Given the description of an element on the screen output the (x, y) to click on. 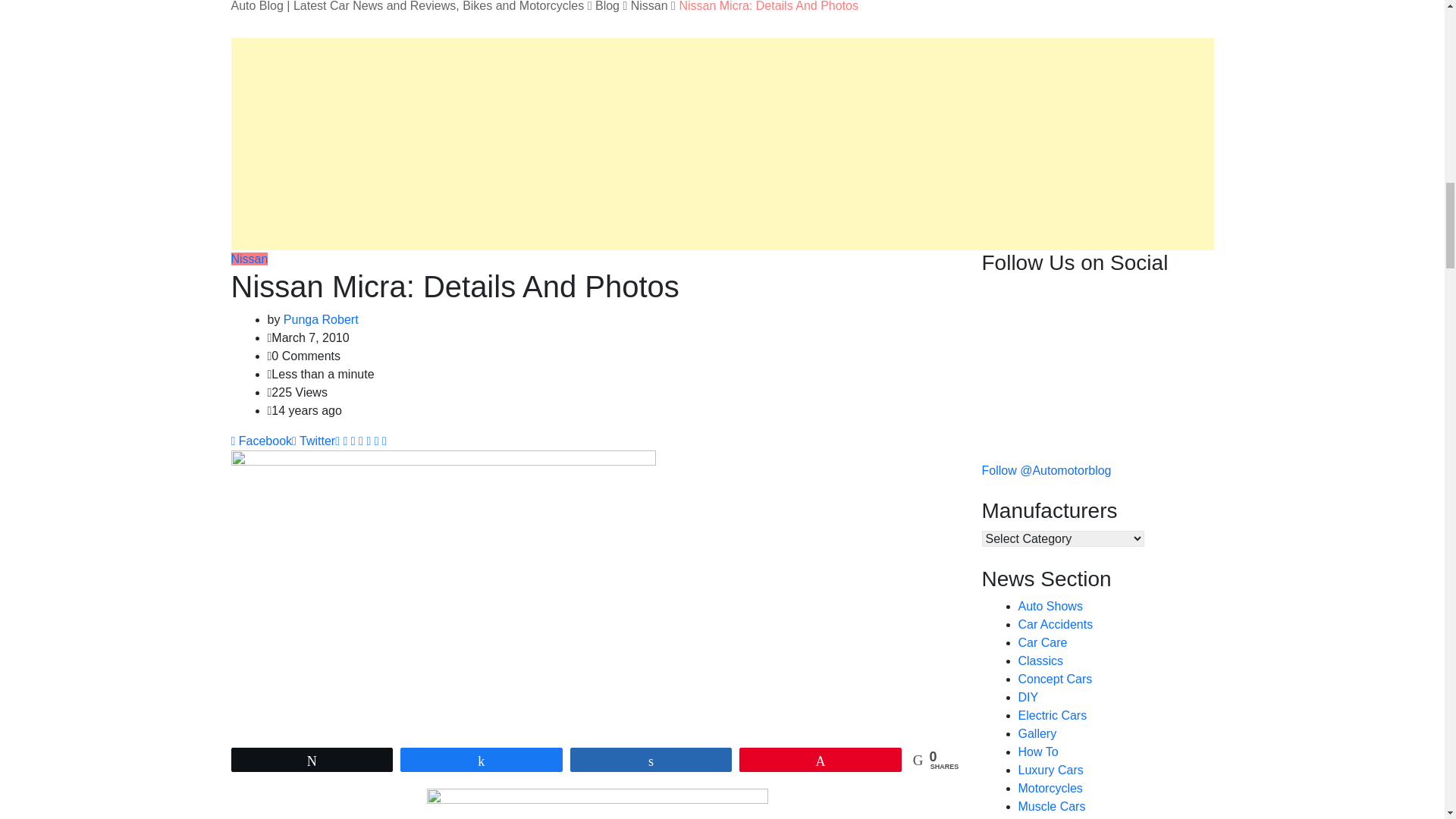
Go to Blog. (607, 6)
Go to the Nissan Category archives. (649, 6)
Posts by Punga Robert (320, 318)
